Given the description of an element on the screen output the (x, y) to click on. 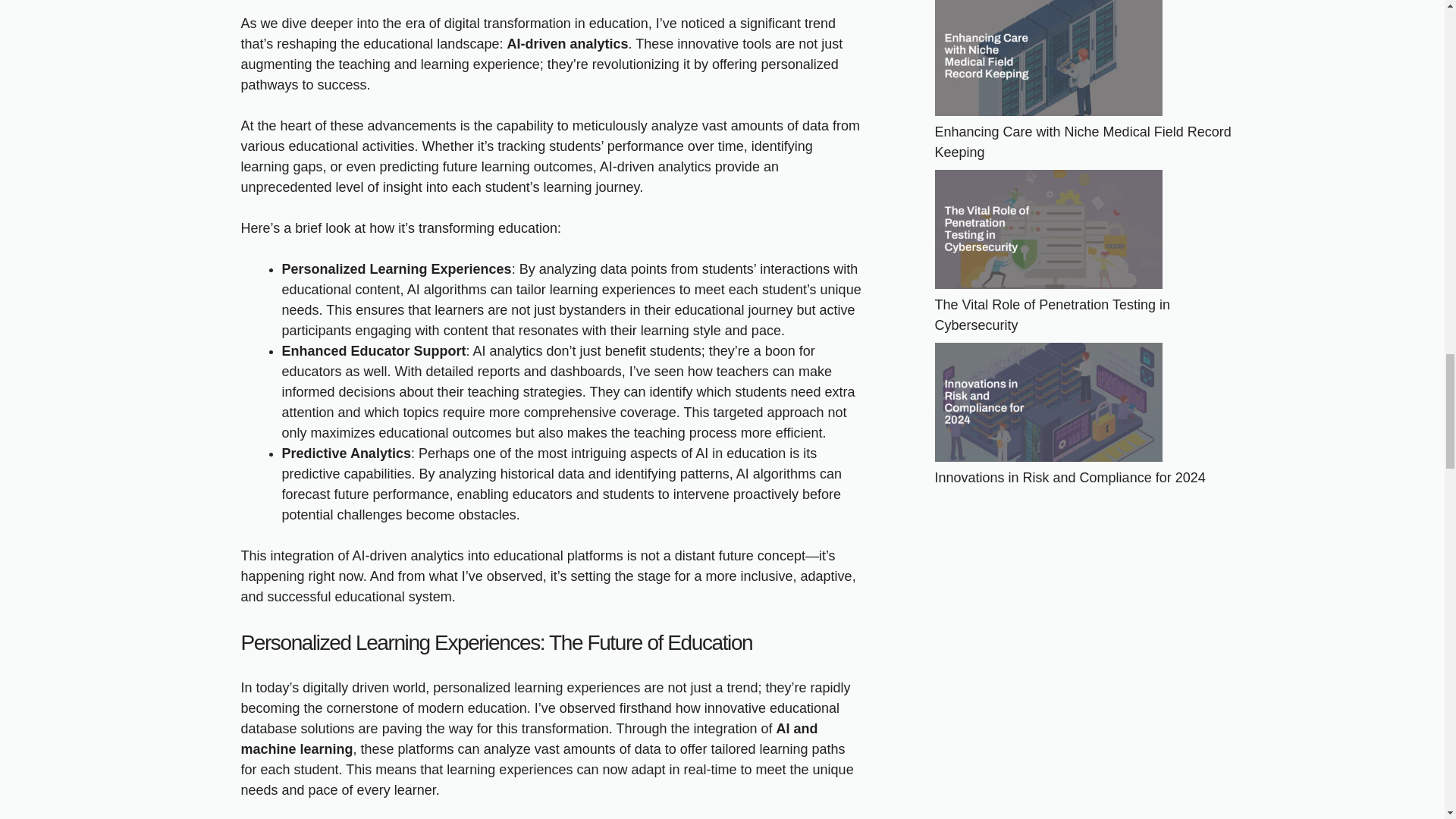
The Vital Role of Penetration Testing in Cybersecurity (1052, 314)
Innovations in Risk and Compliance for 2024 (1069, 477)
Enhancing Care with Niche Medical Field Record Keeping (1082, 141)
